Given the description of an element on the screen output the (x, y) to click on. 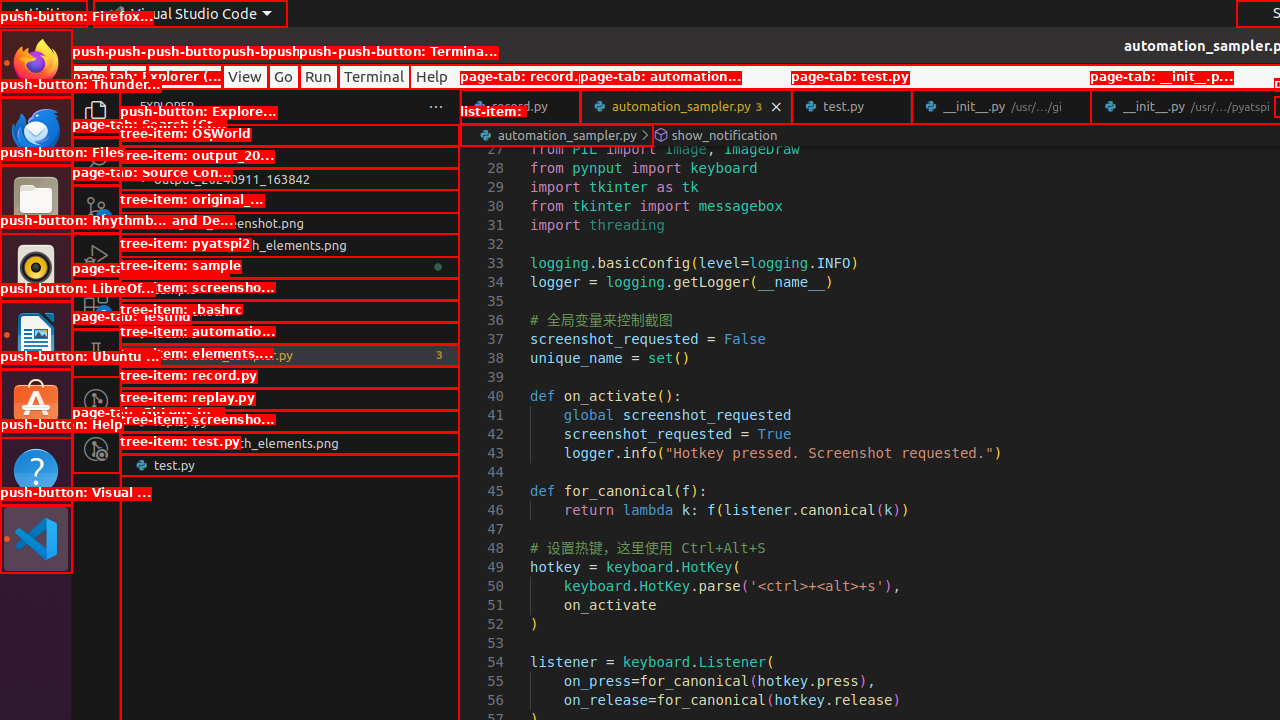
Edit Element type: push-button (127, 76)
output_20240911_163842 Element type: tree-item (289, 179)
OSWorld Element type: tree-item (289, 157)
.bashrc Element type: tree-item (289, 333)
screenshot_with_elements.png Element type: tree-item (289, 443)
